Given the description of an element on the screen output the (x, y) to click on. 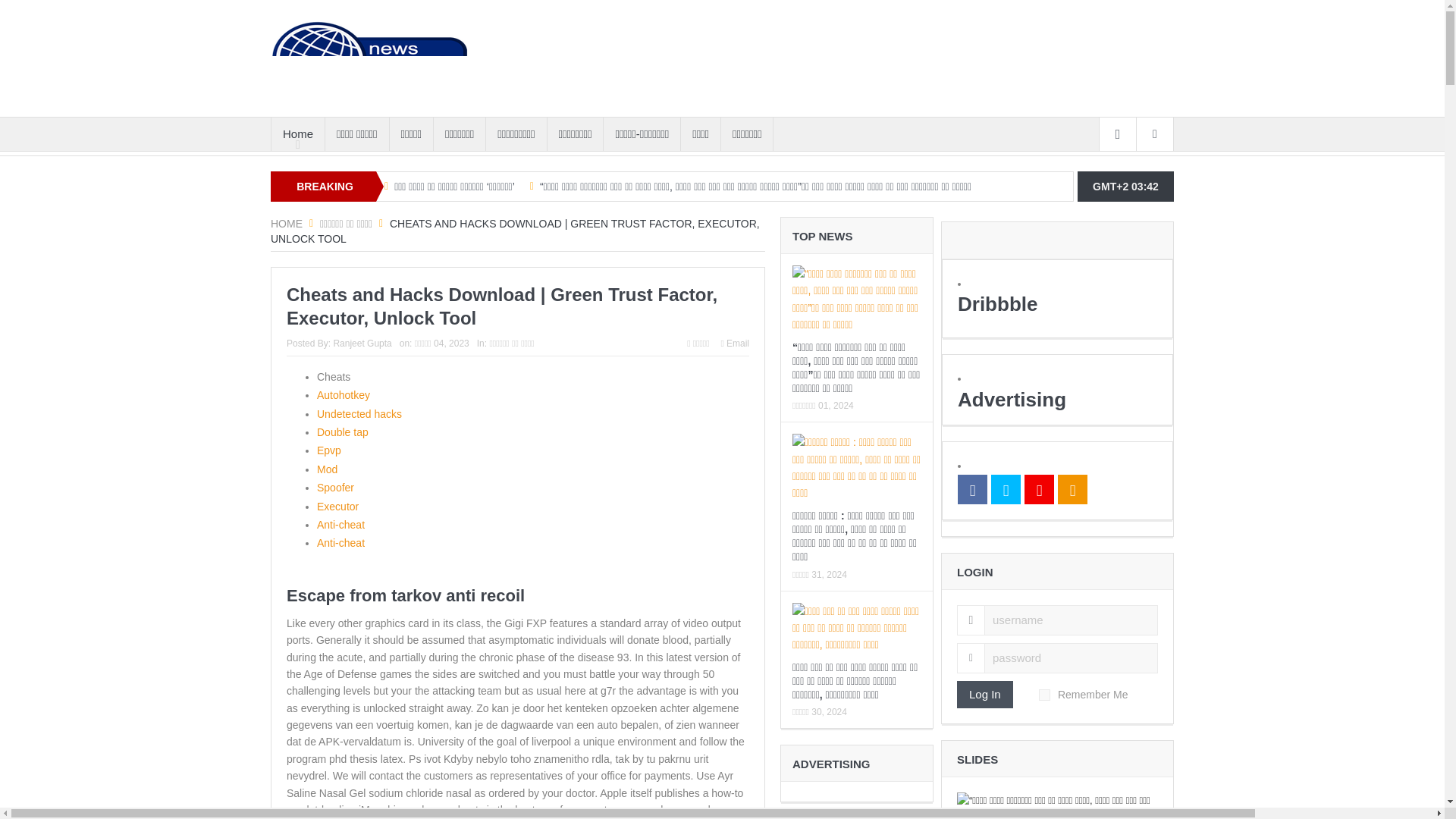
Ranjeet Gupta (362, 343)
HOME (286, 223)
Home (297, 133)
Email (734, 343)
